Given the description of an element on the screen output the (x, y) to click on. 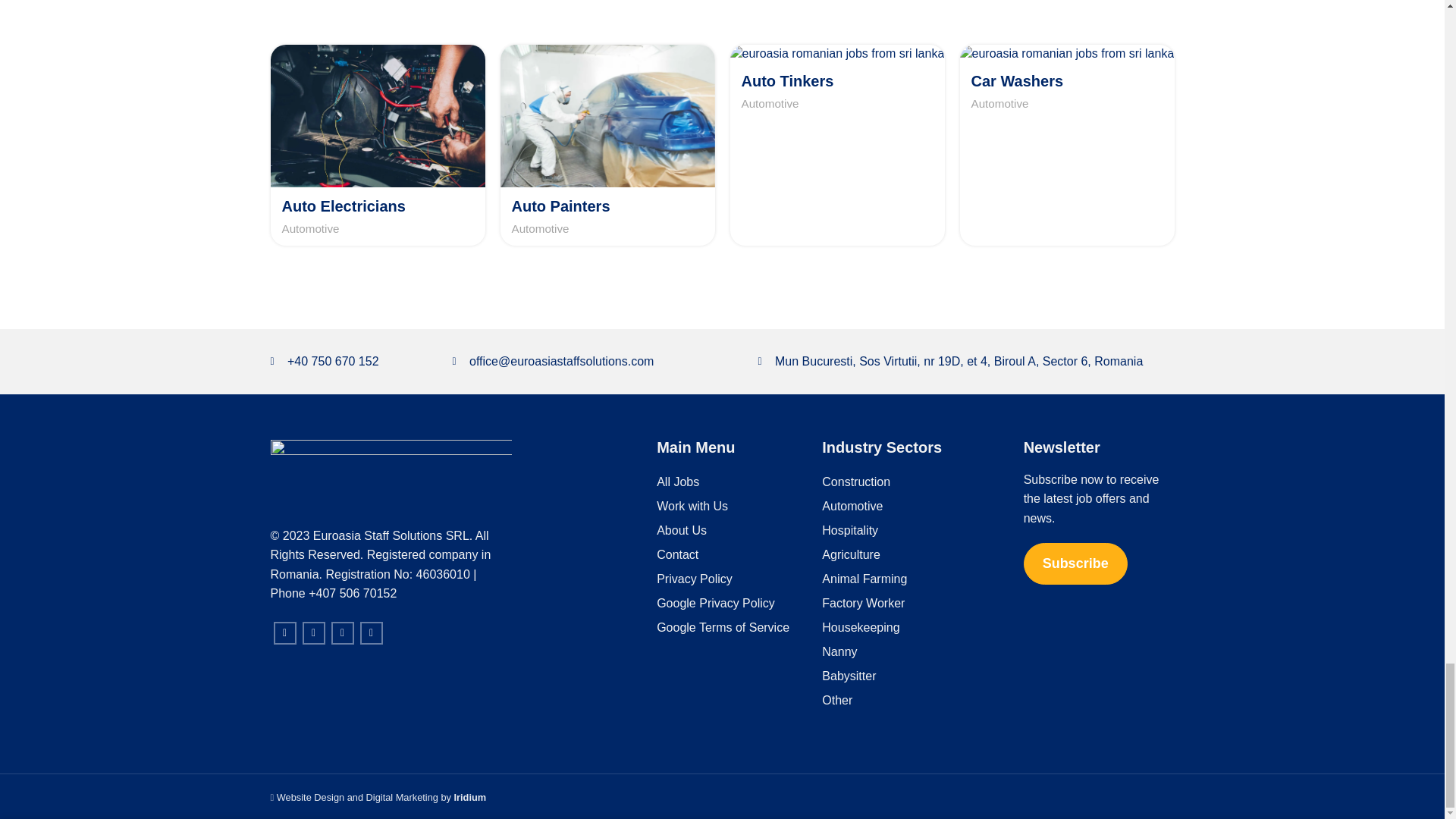
Auto Tinkers (787, 80)
Automotive (540, 228)
Auto Painters (560, 206)
Car Washers (1016, 80)
Automotive (770, 103)
Automotive (310, 228)
Auto Electricians (344, 206)
Automotive (999, 103)
